Given the description of an element on the screen output the (x, y) to click on. 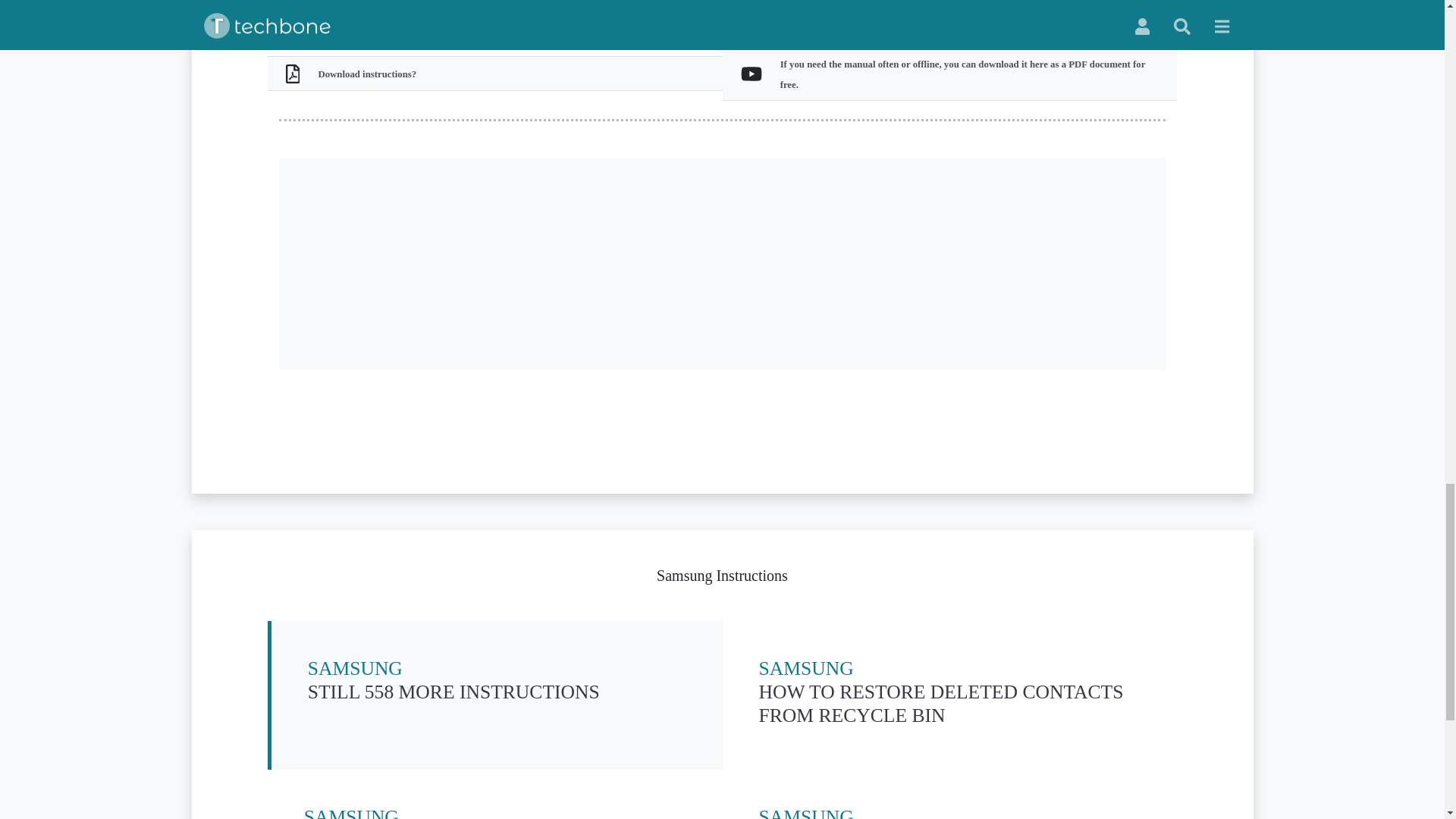
Continue (494, 812)
Back (1099, 13)
Download instructions? (638, 13)
